Given the description of an element on the screen output the (x, y) to click on. 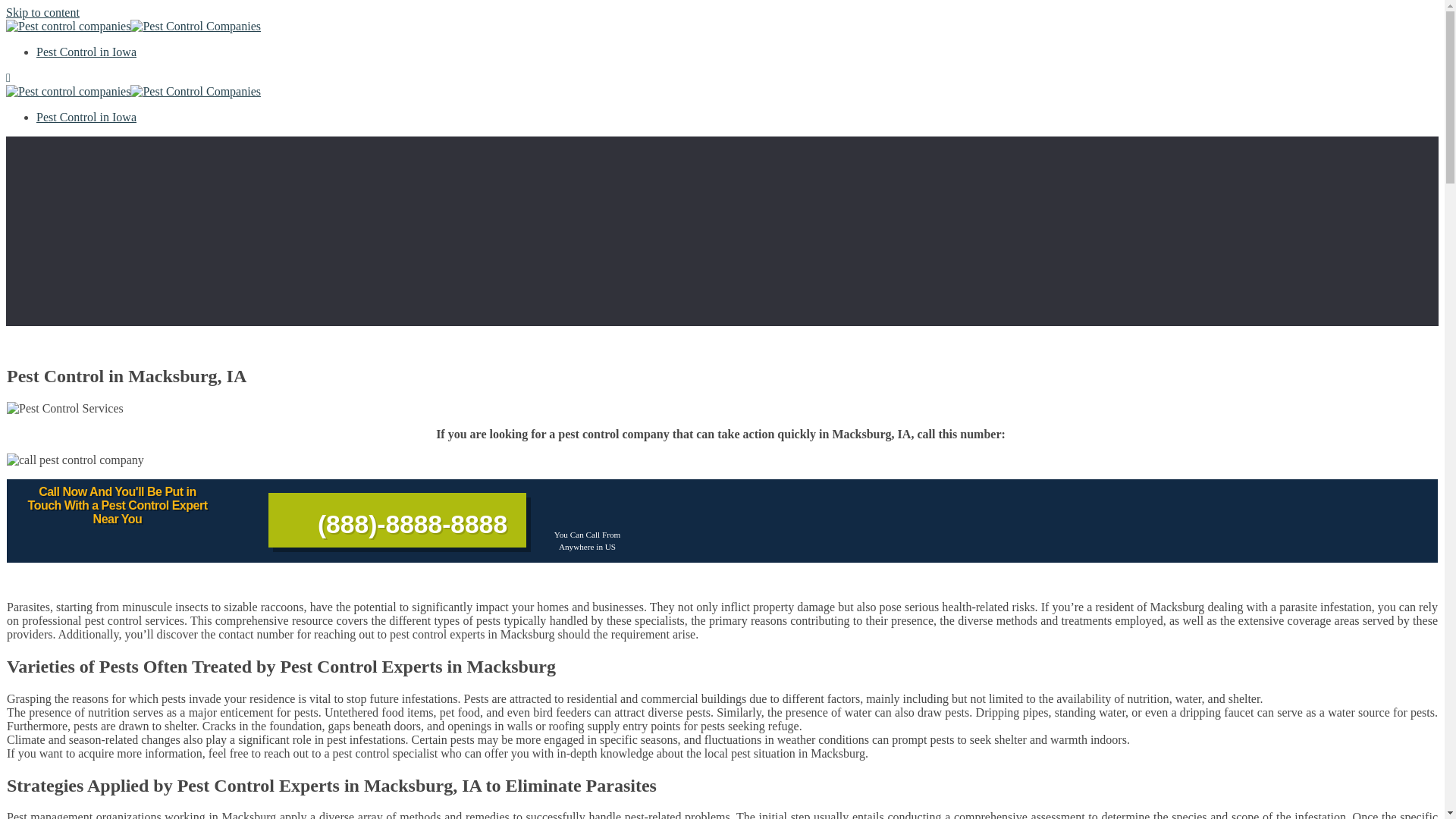
Pest Control in Iowa (86, 51)
Pest Control in Iowa (86, 116)
Skip to content (42, 11)
